Given the description of an element on the screen output the (x, y) to click on. 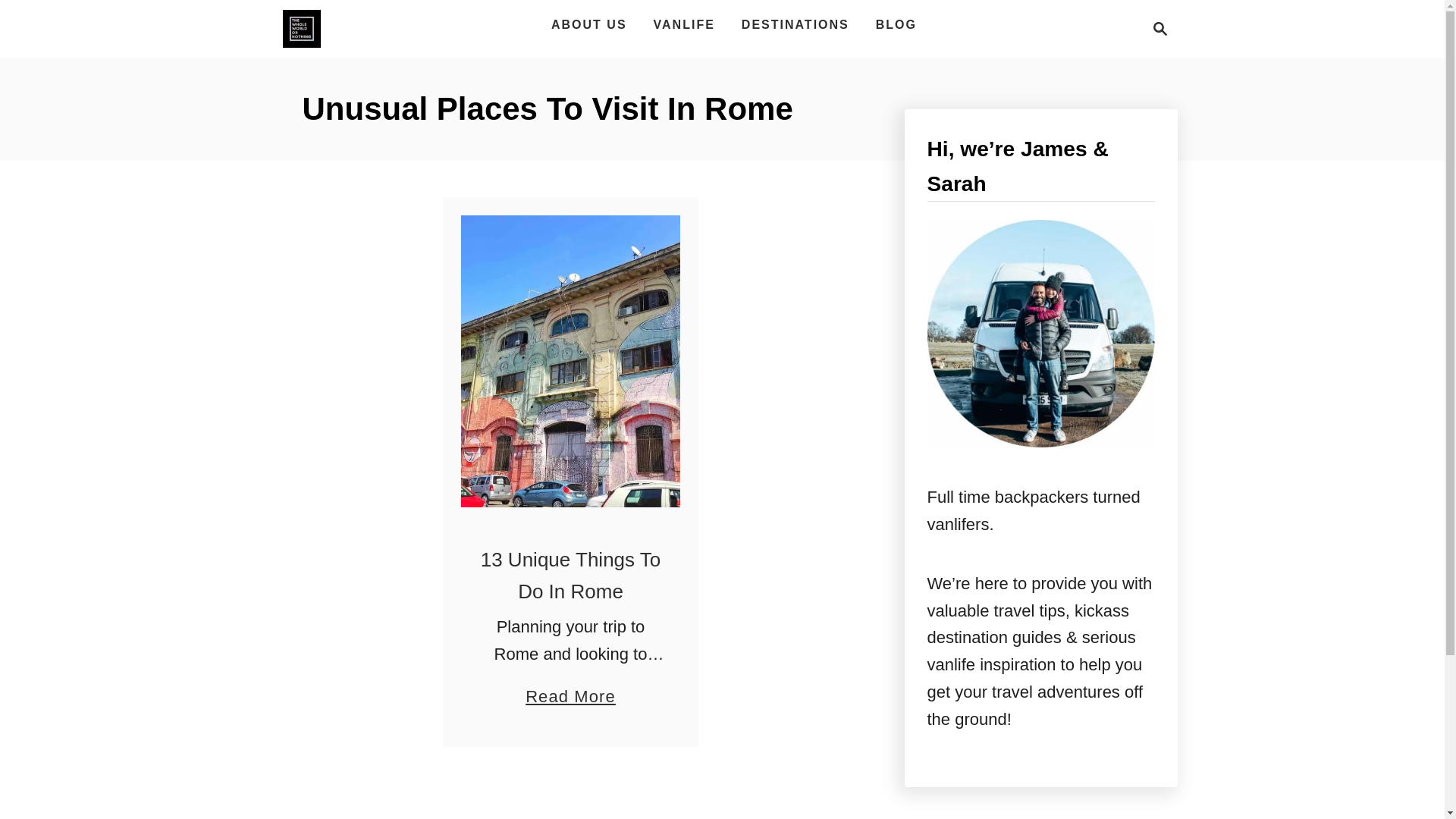
VANLIFE (684, 24)
BLOG (895, 24)
Magnifying Glass (1155, 28)
DESTINATIONS (1160, 28)
The Whole World Or Nothing (795, 24)
ABOUT US (301, 28)
13 Unique Things To Do In Rome (570, 689)
